Given the description of an element on the screen output the (x, y) to click on. 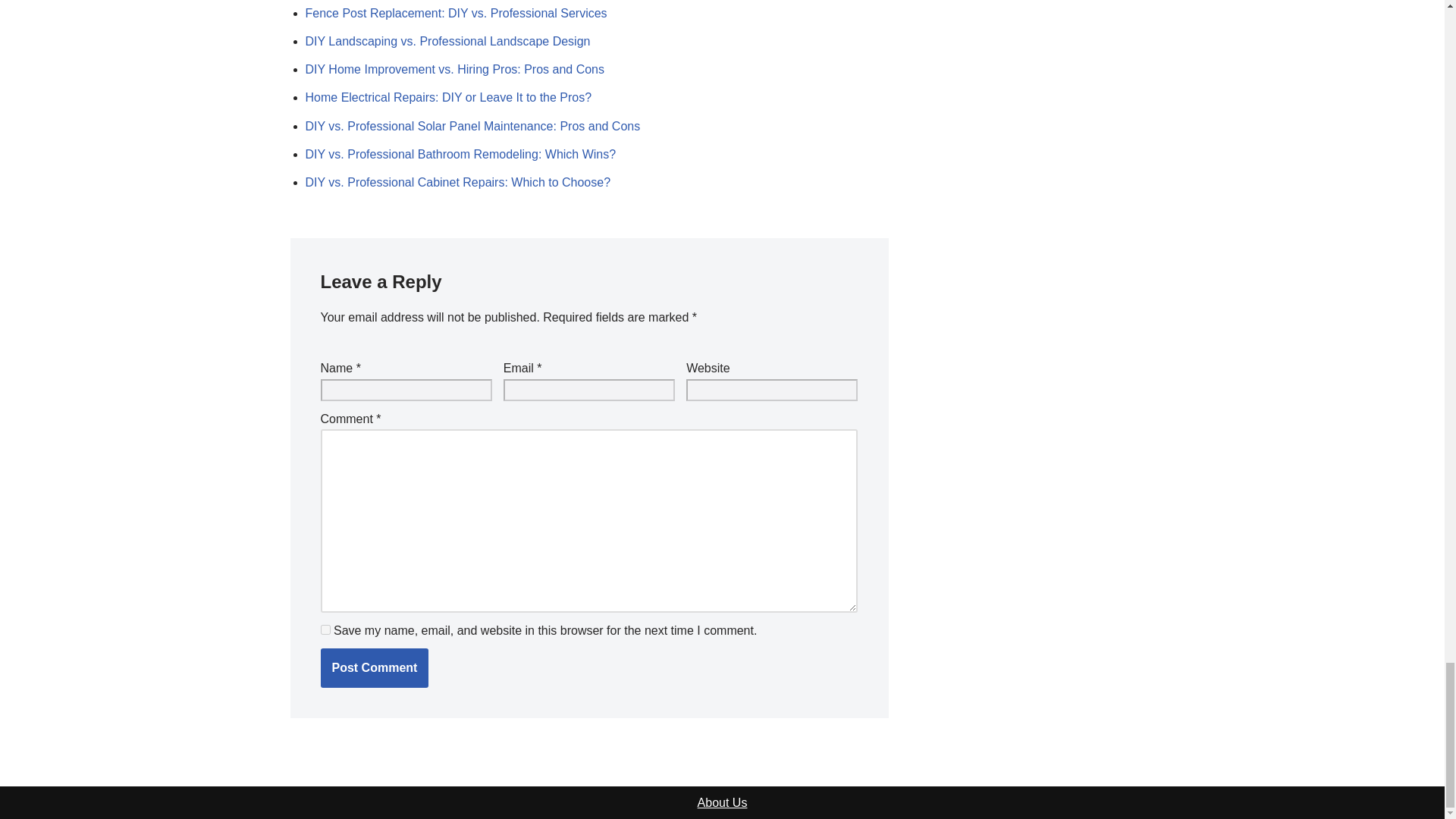
Post Comment (374, 667)
yes (325, 629)
